Given the description of an element on the screen output the (x, y) to click on. 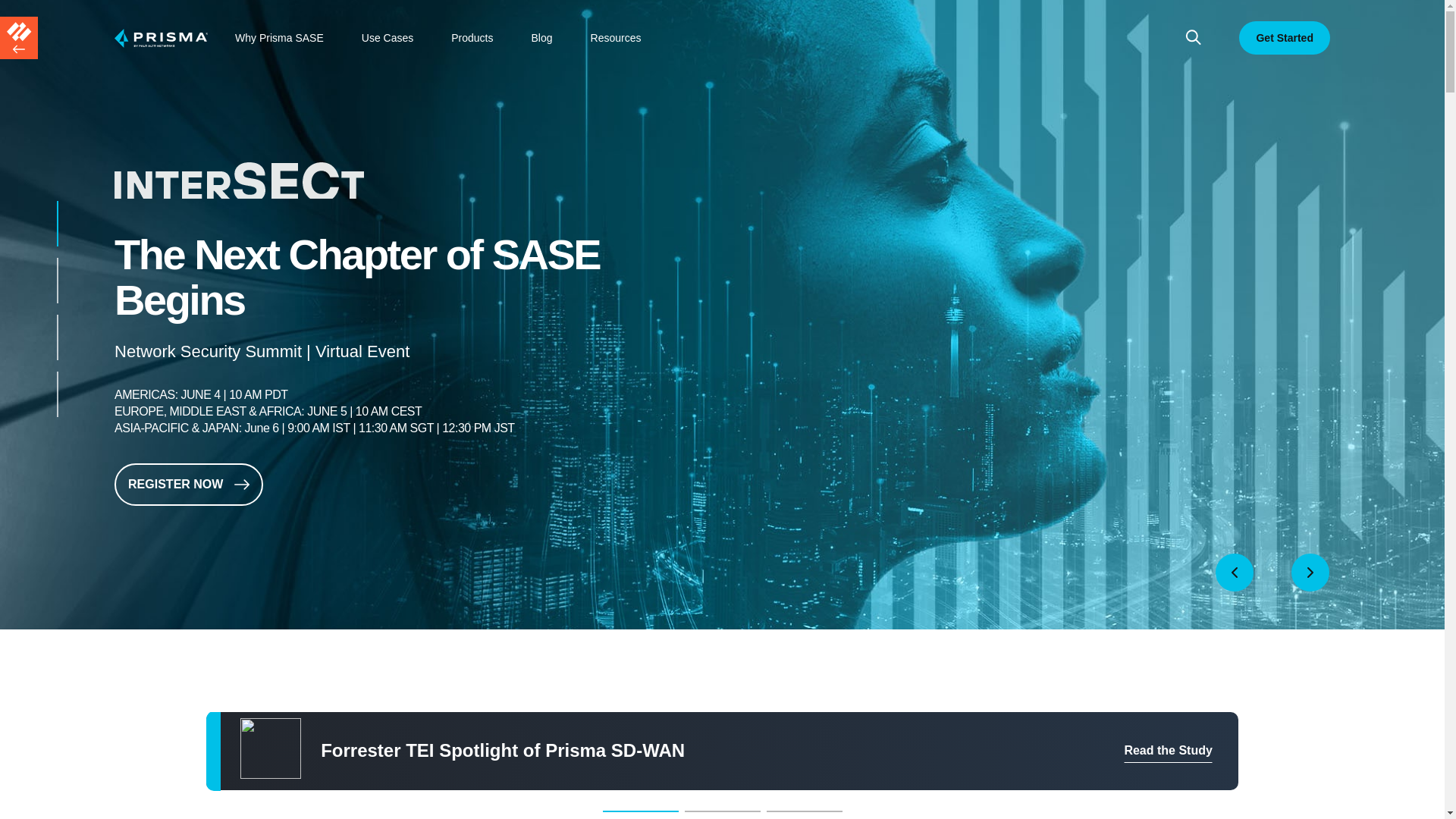
Resources (616, 38)
Why Prisma SASE (278, 38)
Use Cases (387, 38)
Products (472, 38)
